Given the description of an element on the screen output the (x, y) to click on. 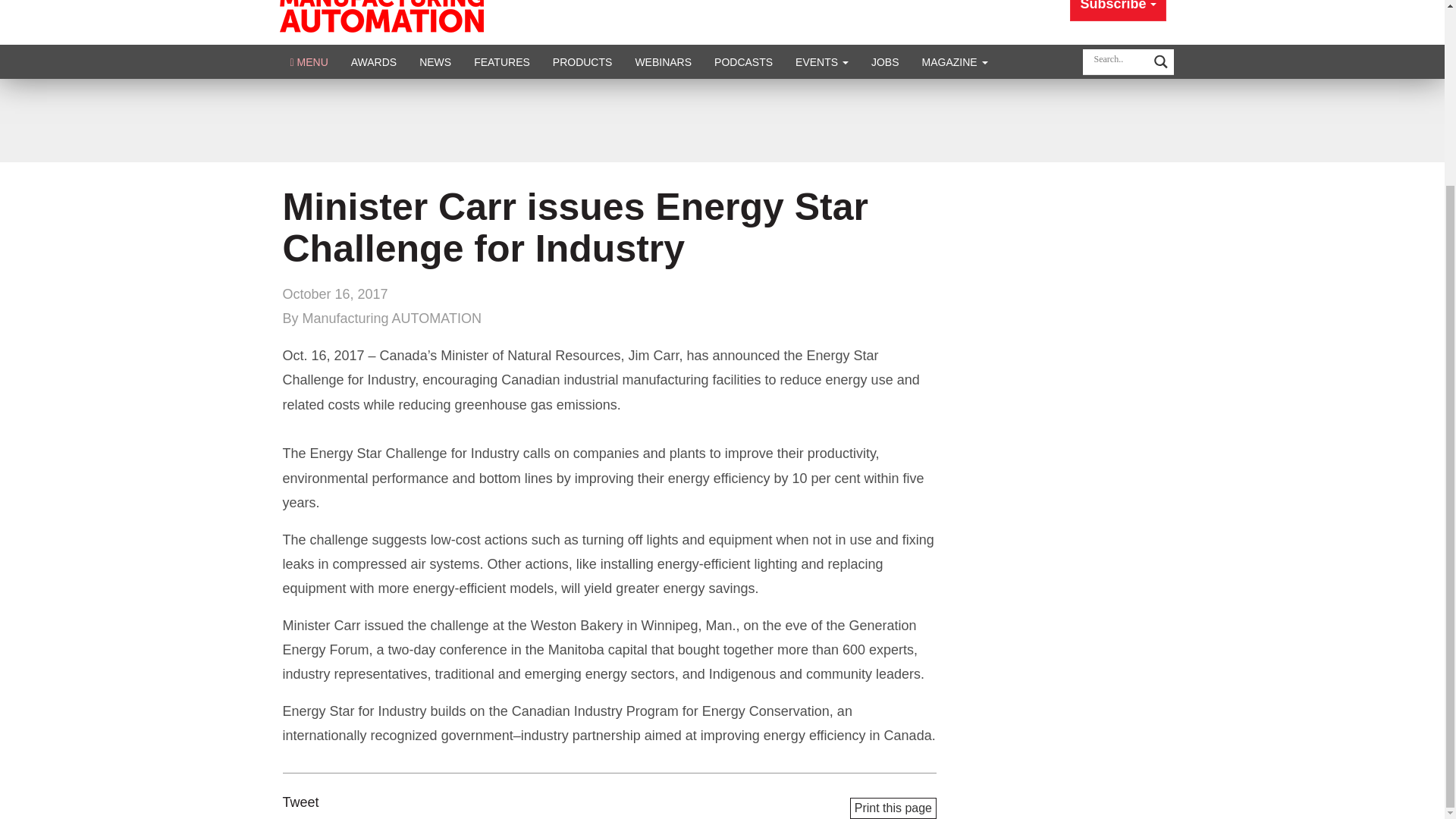
WEBINARS (663, 61)
3rd party ad content (721, 120)
PRODUCTS (582, 61)
NEWS (435, 61)
JOBS (885, 61)
PODCASTS (743, 61)
AWARDS (373, 61)
MAGAZINE (954, 61)
Click to show site navigation (309, 61)
FEATURES (502, 61)
